Given the description of an element on the screen output the (x, y) to click on. 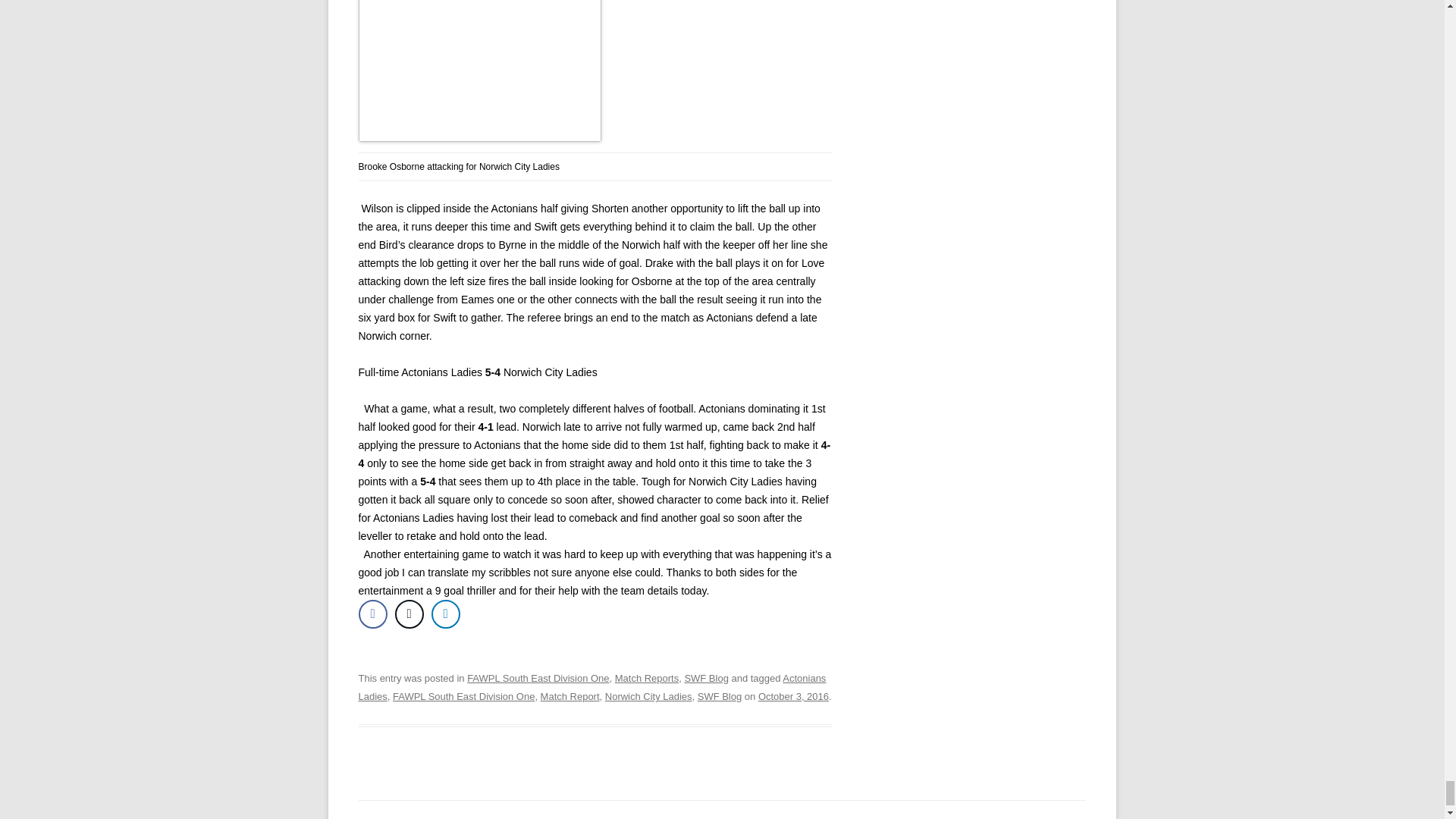
07:01 (793, 696)
